Given the description of an element on the screen output the (x, y) to click on. 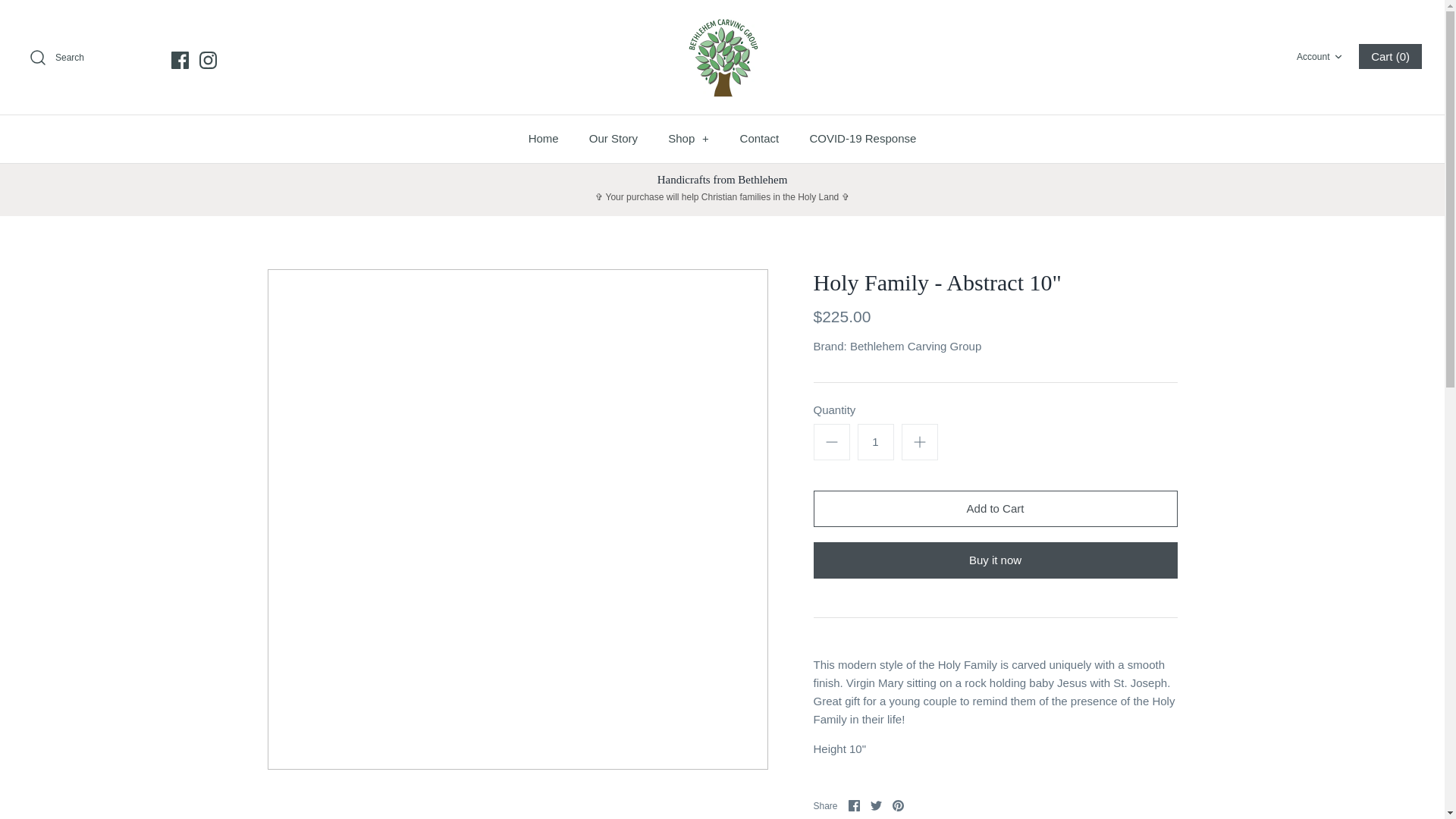
Minus (831, 442)
Home (543, 138)
Our Story (612, 138)
Facebook (180, 59)
Down (1338, 56)
Pinterest (898, 805)
Twitter (876, 805)
Instagram (1321, 56)
COVID-19 Response (207, 59)
Instagram (862, 138)
Bethlehem Carving Group (207, 59)
Contact (722, 57)
1 (759, 138)
Add to Cart (875, 442)
